Given the description of an element on the screen output the (x, y) to click on. 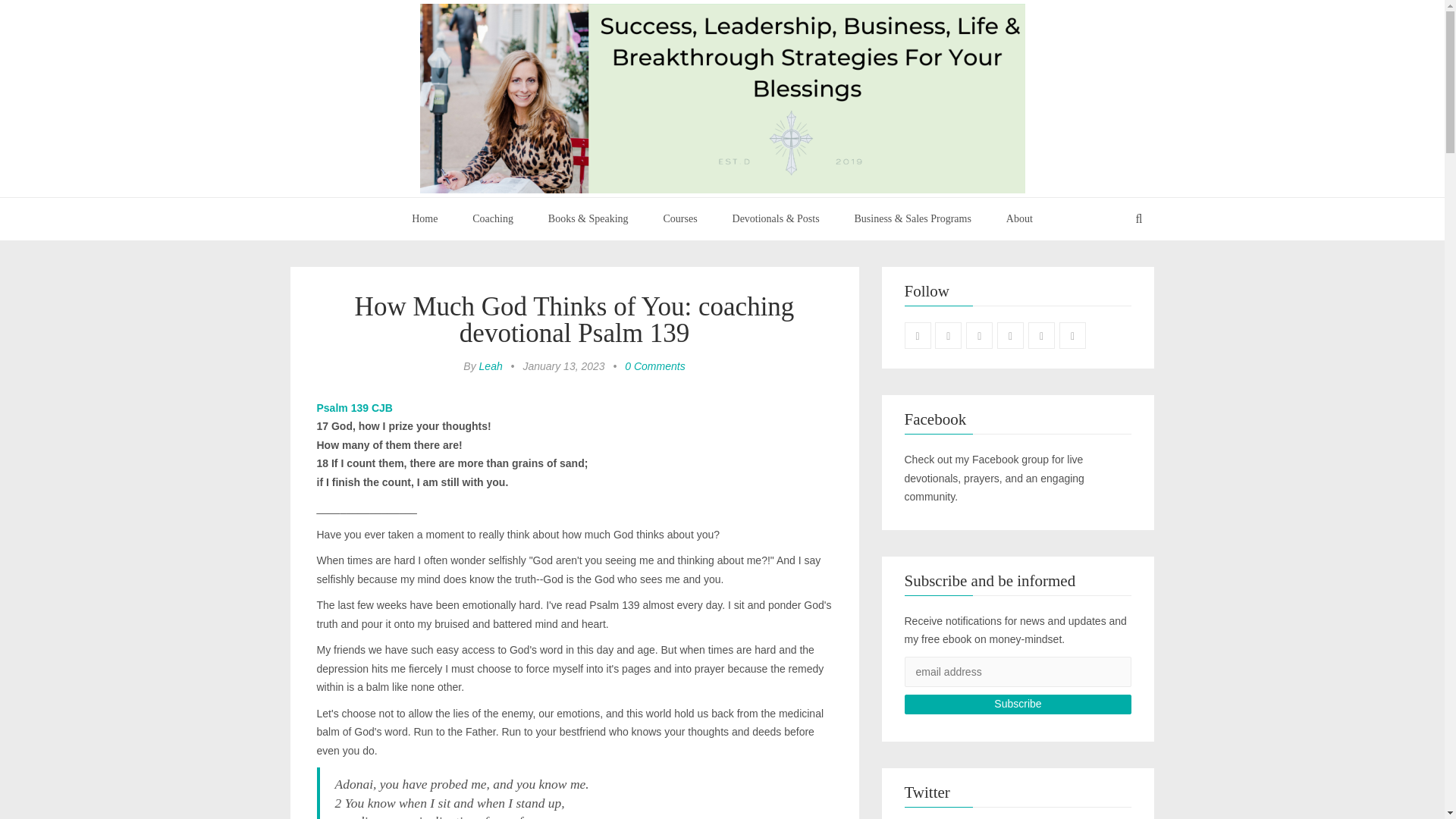
Coaching (493, 219)
Psalm 139 CJB (355, 408)
Leah (490, 366)
Subscribe (1017, 704)
Home (424, 219)
About (1019, 219)
0 Comments (654, 366)
Courses (680, 219)
